Given the description of an element on the screen output the (x, y) to click on. 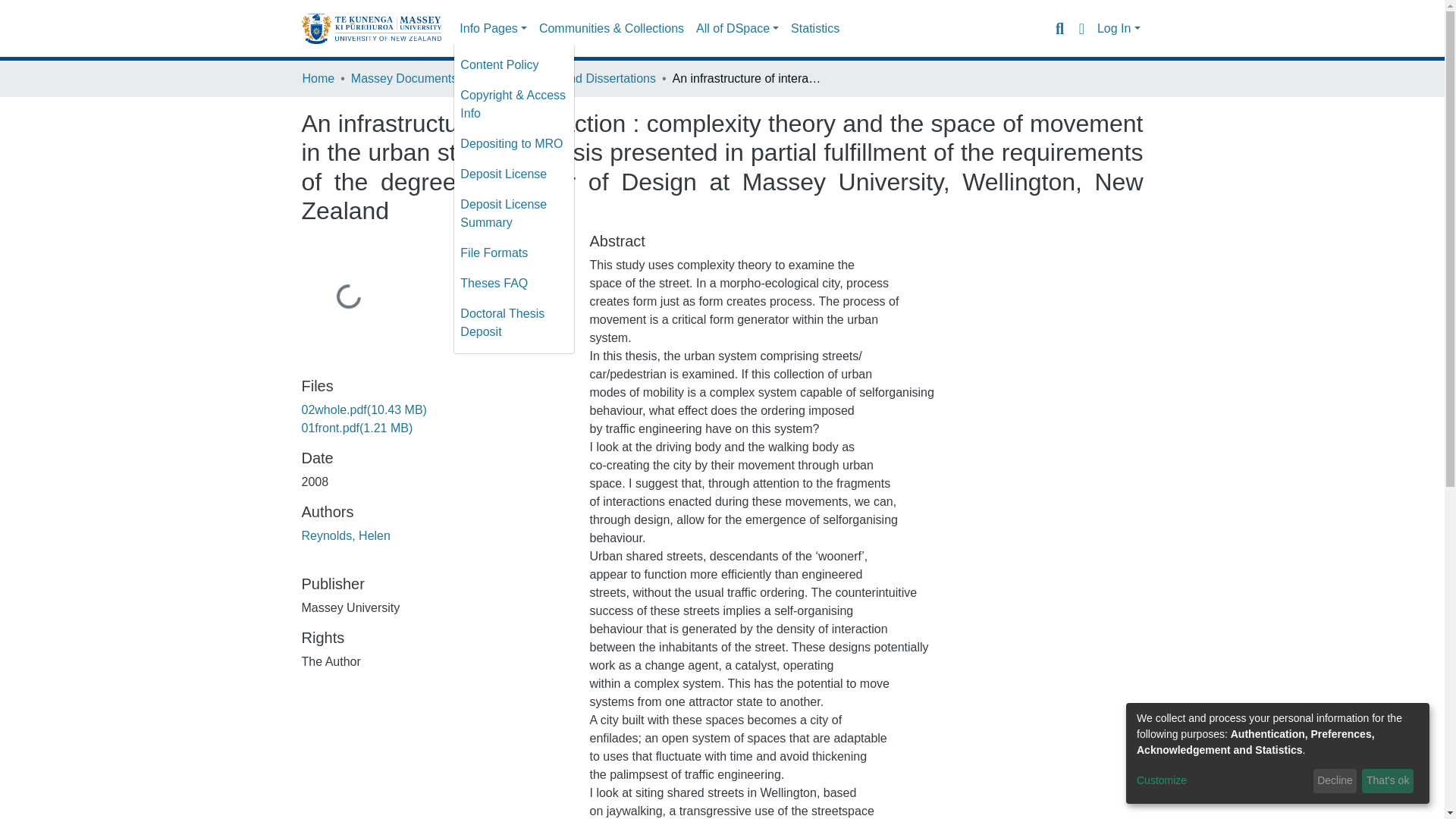
Statistics (814, 28)
Search (1058, 28)
Theses FAQ (513, 283)
Statistics (814, 28)
Info Pages (492, 28)
Language switch (1081, 28)
Home (317, 78)
Content Policy (513, 64)
Theses and Dissertations (587, 78)
All of DSpace (737, 28)
Doctoral Thesis Deposit (513, 322)
Log In (1118, 28)
Depositing to MRO (513, 143)
Massey Documents by Type (426, 78)
Deposit License Summary (513, 213)
